Given the description of an element on the screen output the (x, y) to click on. 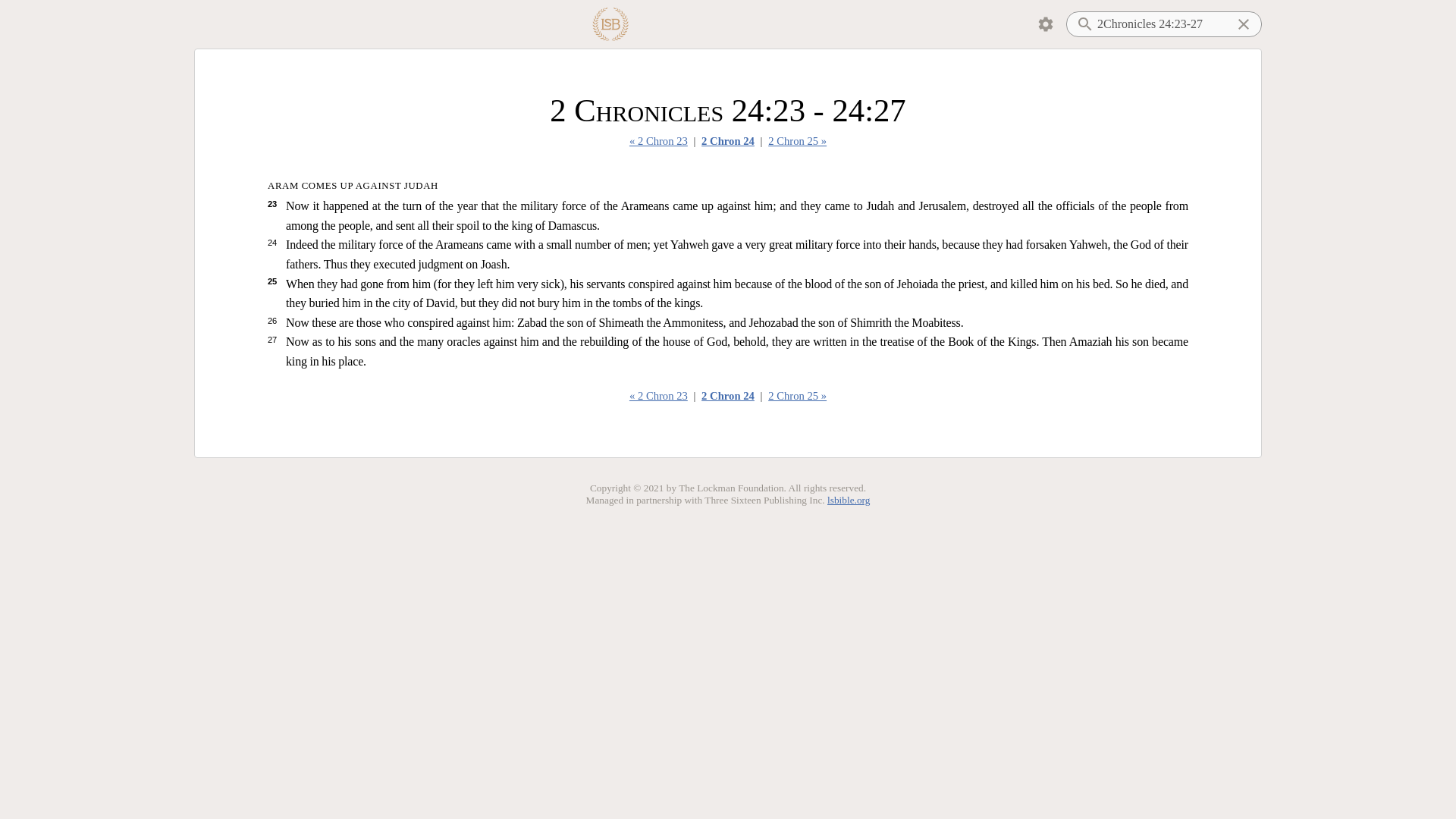
2Chronicles 24:23-27 (1163, 23)
lsbible.org (848, 500)
2 Chron 24 (727, 395)
2 Chron 24 (727, 140)
2Chronicles 24:23-27 (1163, 23)
